Given the description of an element on the screen output the (x, y) to click on. 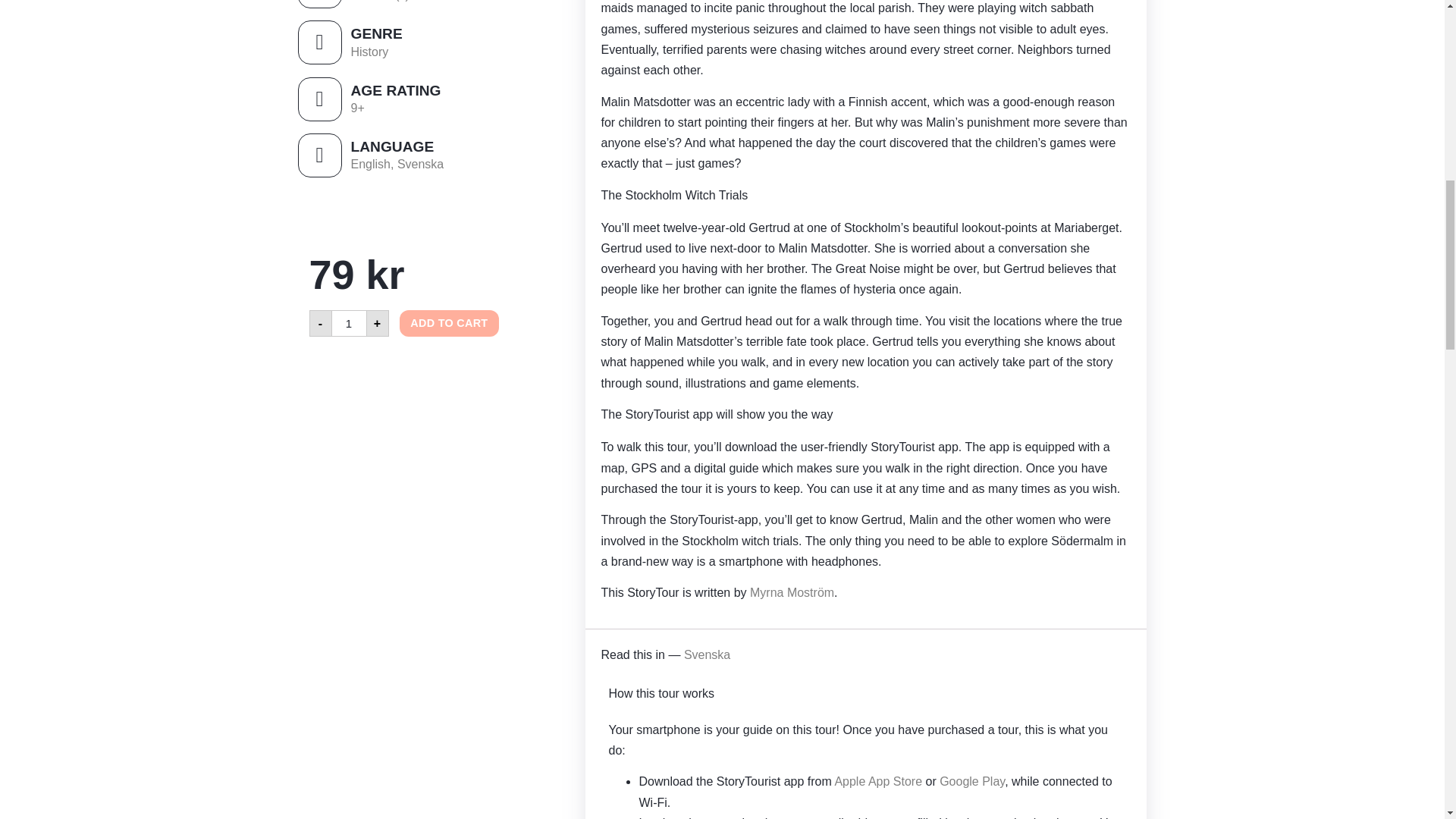
1 (348, 323)
Qty (348, 323)
